Given the description of an element on the screen output the (x, y) to click on. 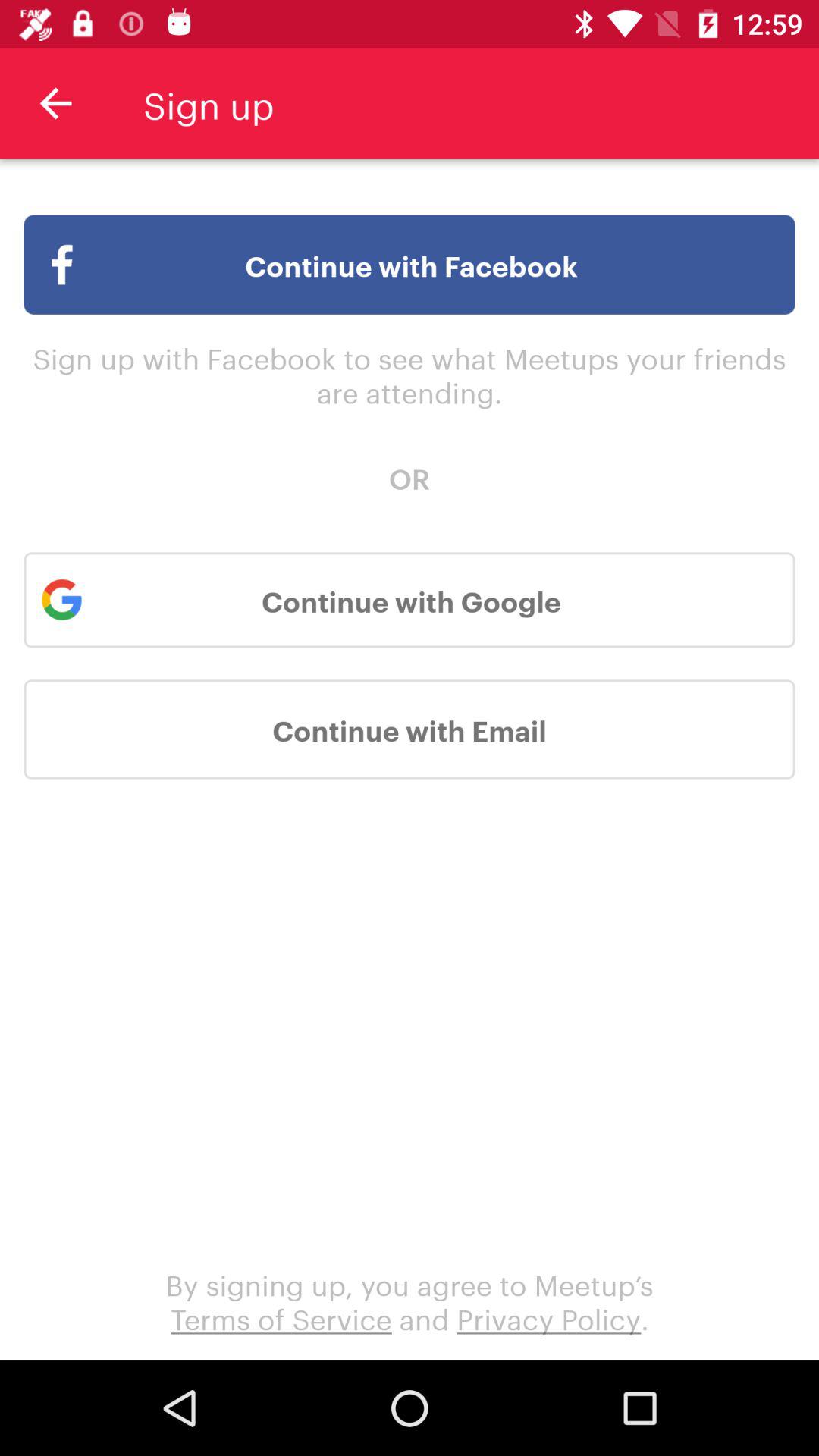
press icon above the continue with facebook item (55, 103)
